Given the description of an element on the screen output the (x, y) to click on. 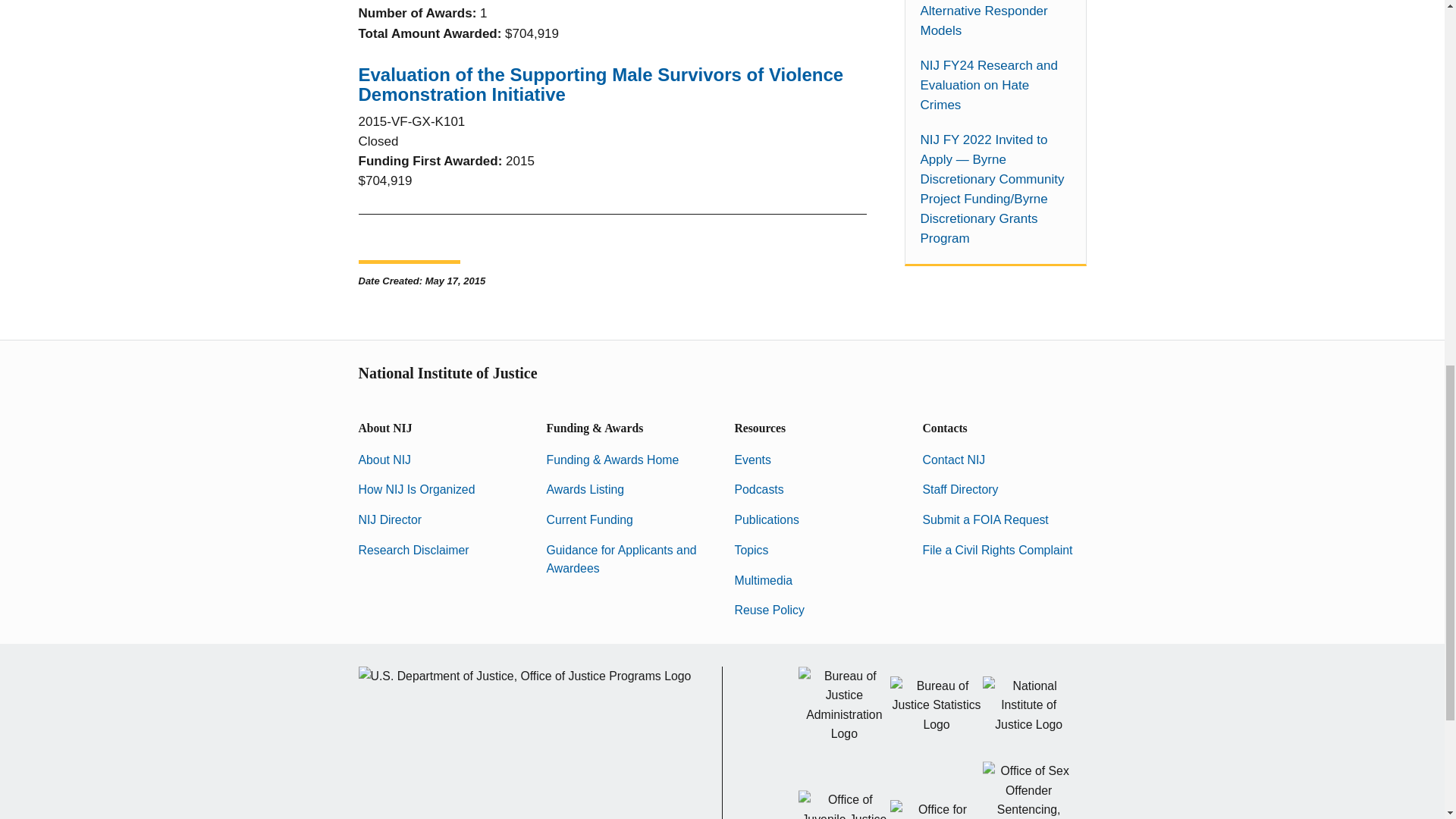
NIJ FY24 Research and Evaluation on Hate Crimes (995, 85)
About NIJ (384, 459)
NIJ FY24 Research and Evaluation on Hate Crimes (995, 85)
